Given the description of an element on the screen output the (x, y) to click on. 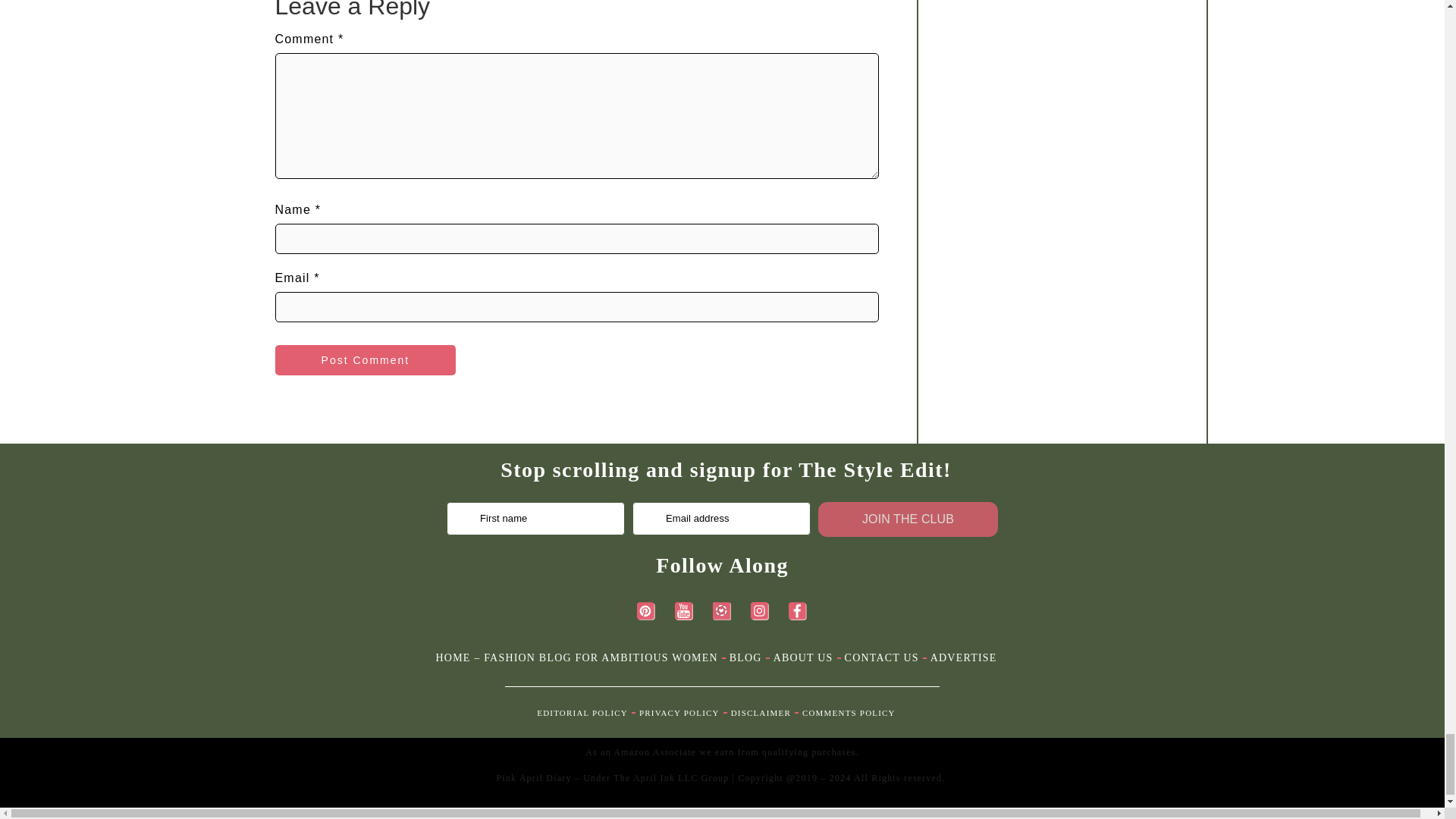
Post Comment (365, 359)
